Given the description of an element on the screen output the (x, y) to click on. 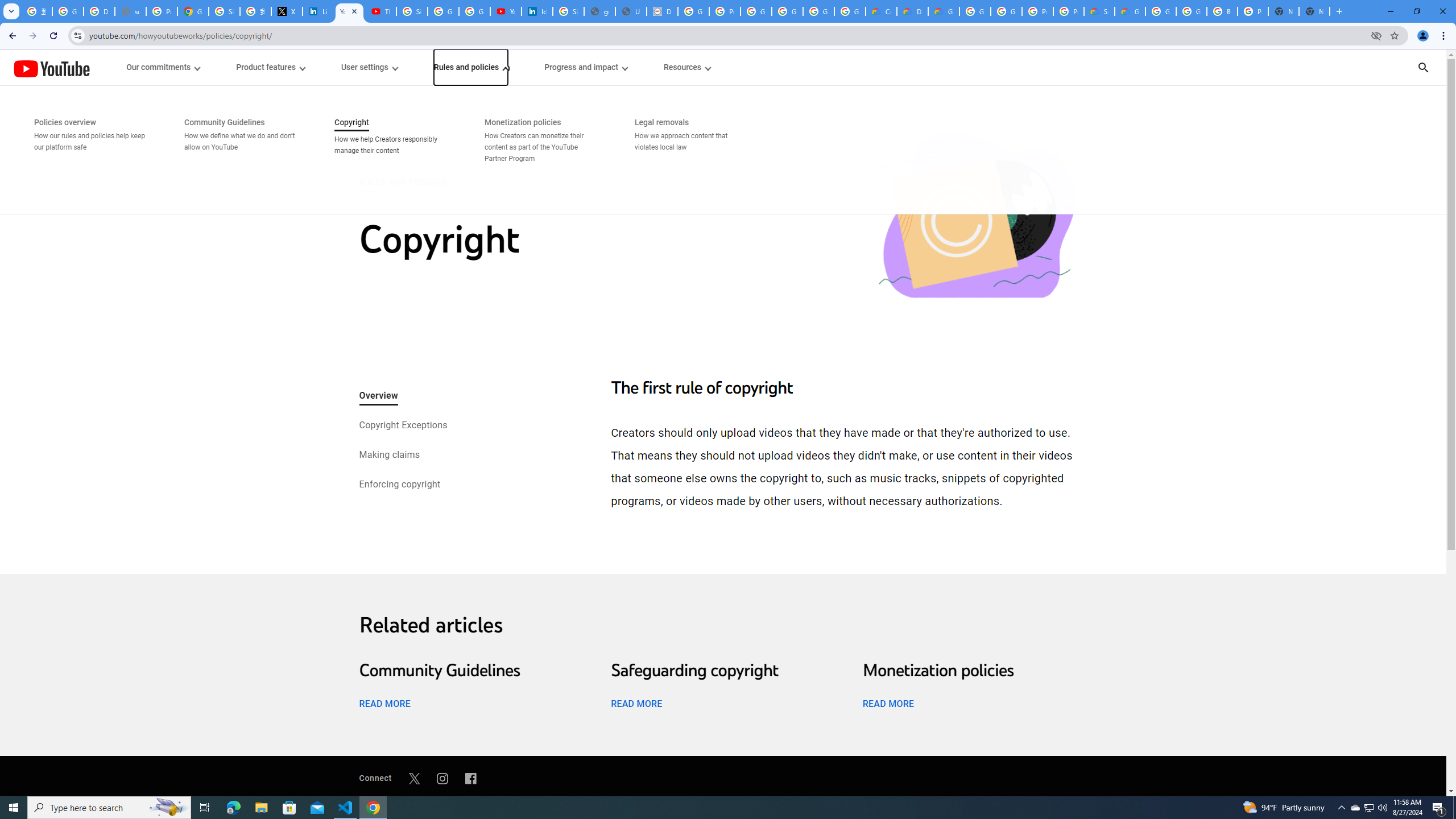
Copyright Exceptions (402, 425)
Search (1423, 67)
Overview (377, 396)
Customer Care | Google Cloud (881, 11)
Google Cloud Platform (974, 11)
